Given the description of an element on the screen output the (x, y) to click on. 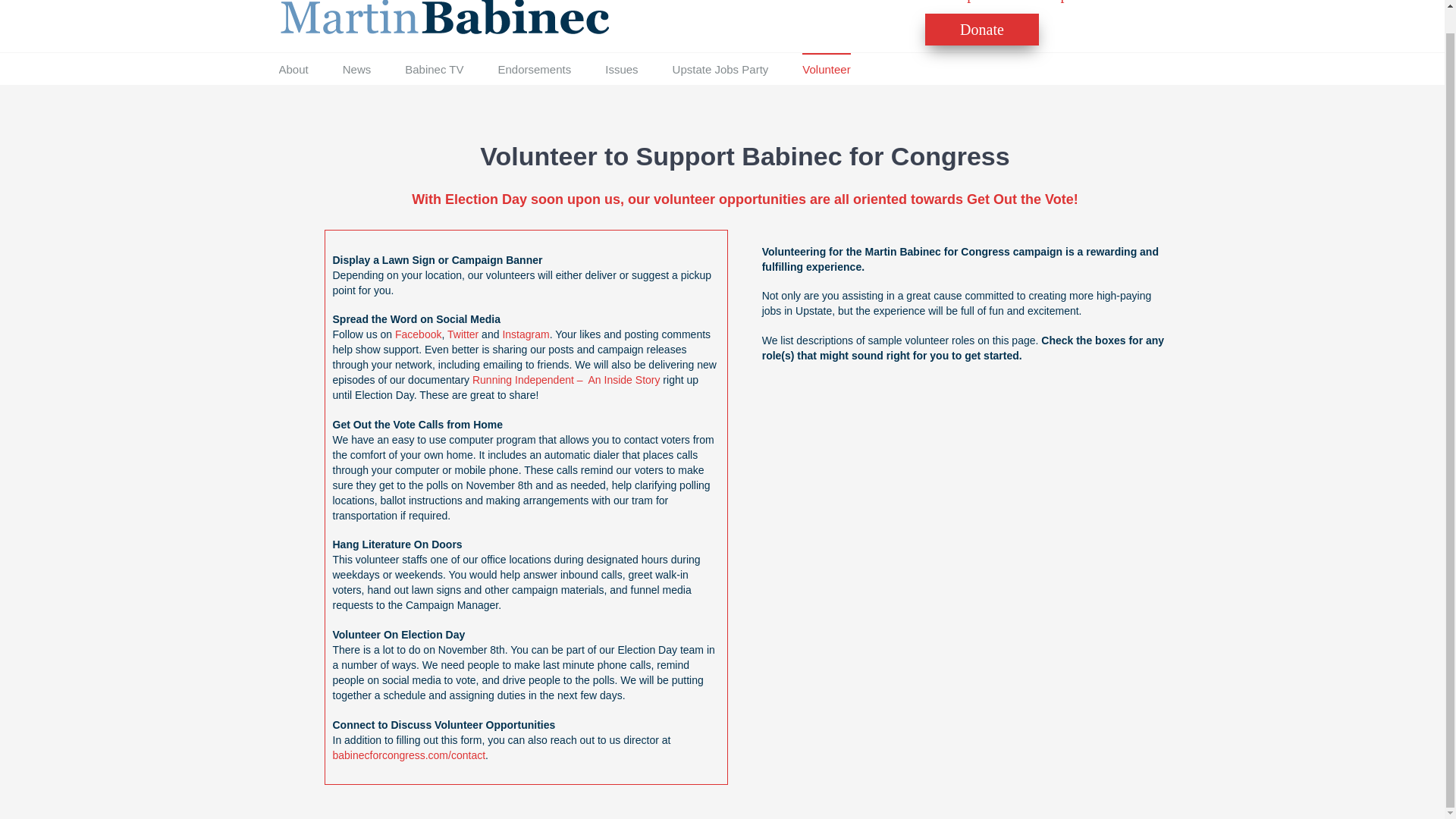
About (293, 69)
Issues (621, 69)
Endorsements (533, 69)
Upstate Jobs Party (720, 69)
Donate (981, 29)
Twitter (462, 334)
Babinec TV (433, 69)
Volunteer (826, 69)
News (356, 69)
Facebook (417, 334)
Instagram (525, 334)
